Given the description of an element on the screen output the (x, y) to click on. 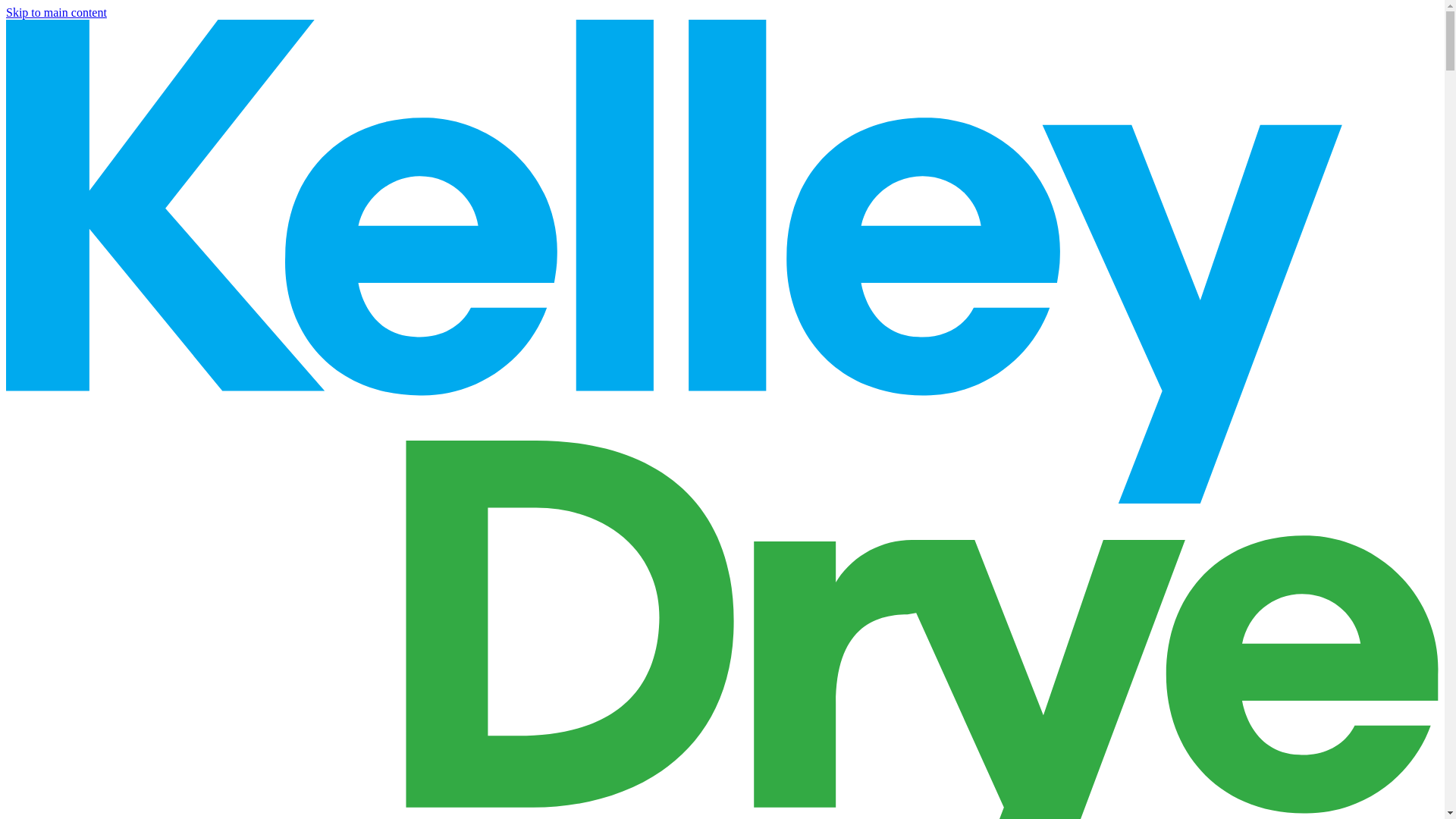
Skip to main content (55, 11)
